Given the description of an element on the screen output the (x, y) to click on. 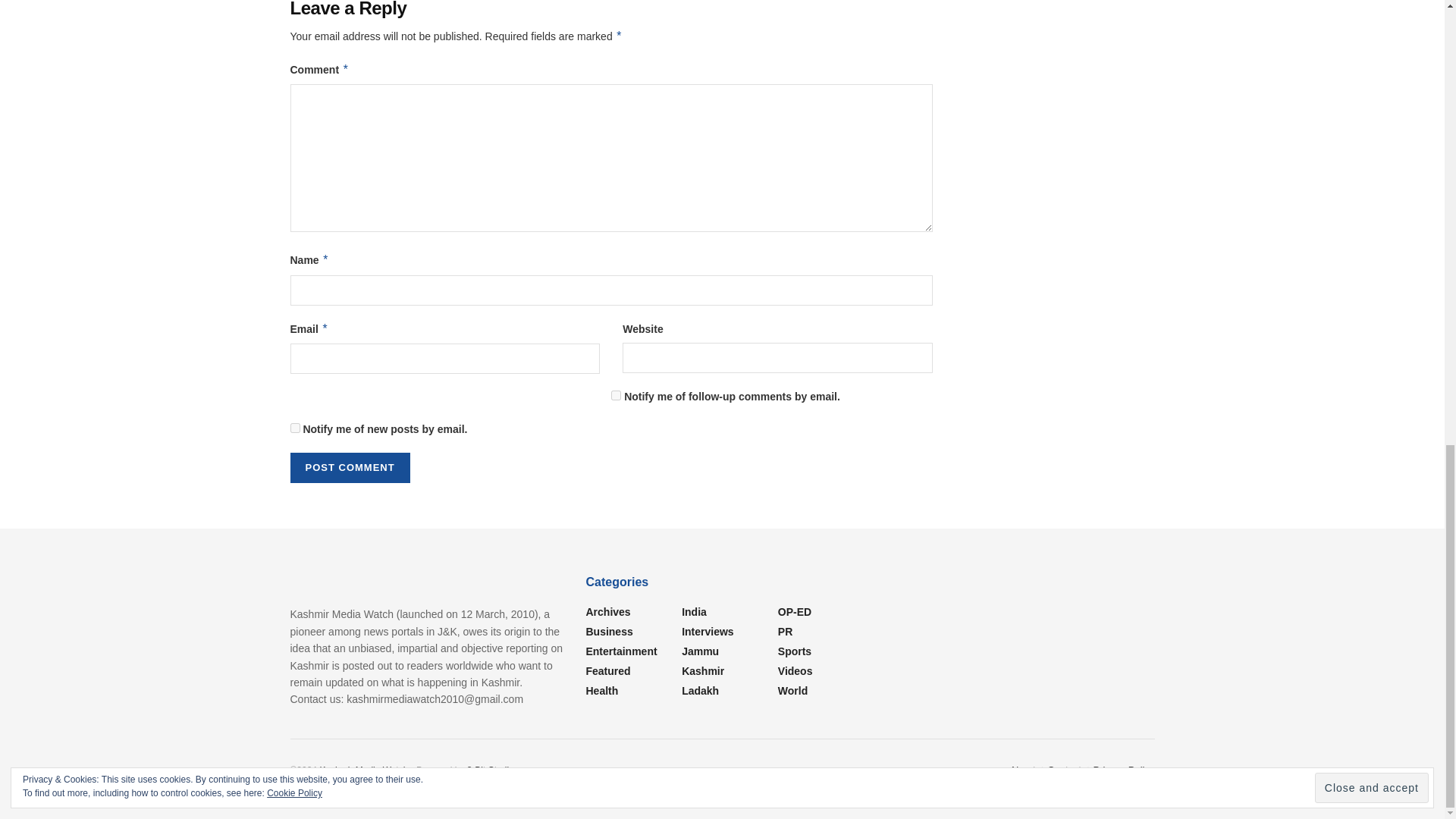
8-Bit Studios (492, 769)
Post Comment (349, 467)
subscribe (294, 428)
subscribe (616, 395)
kashmir Media Watch (362, 769)
